Given the description of an element on the screen output the (x, y) to click on. 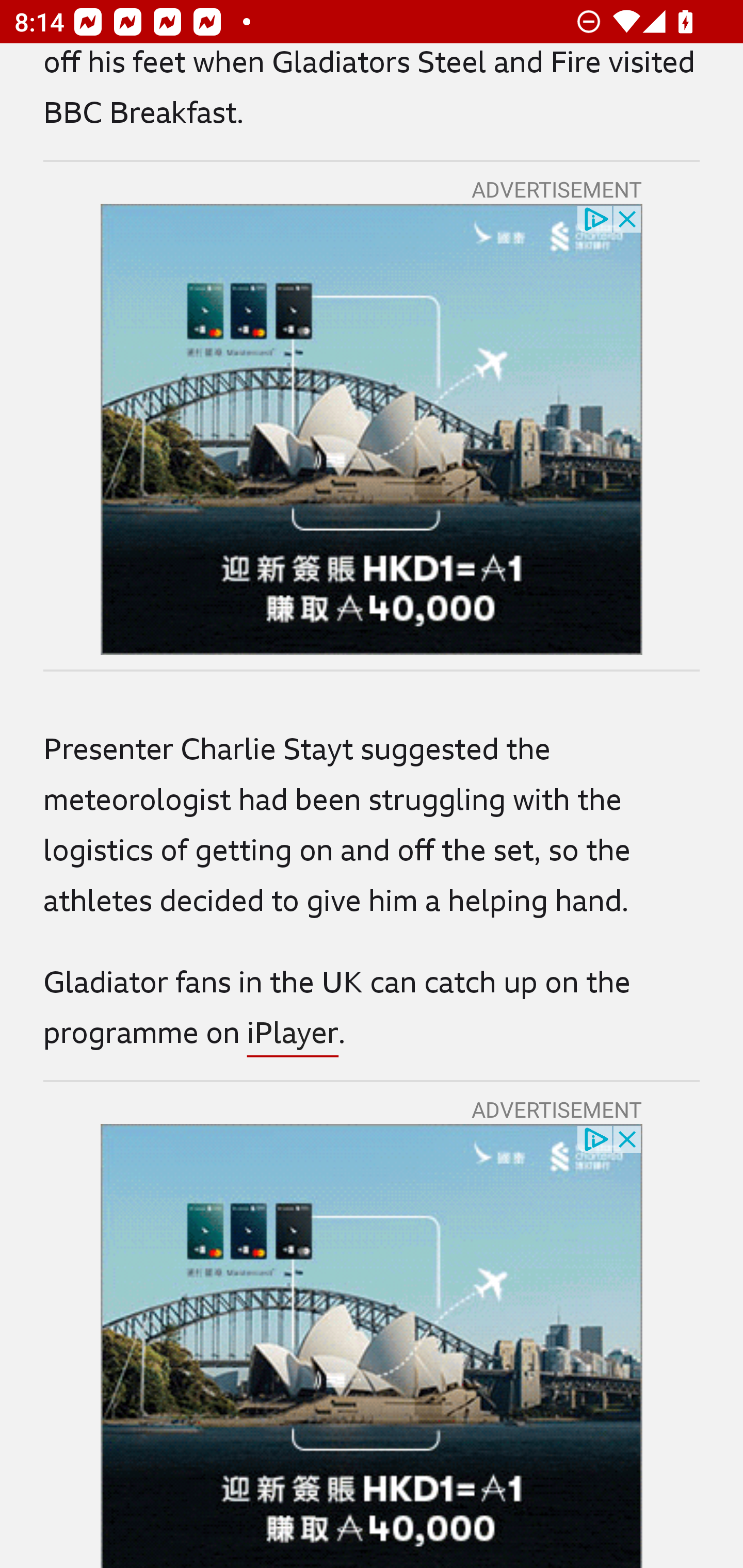
privacy_small (595, 217)
close_button (627, 217)
privacy_small (595, 1138)
close_button (627, 1138)
